Given the description of an element on the screen output the (x, y) to click on. 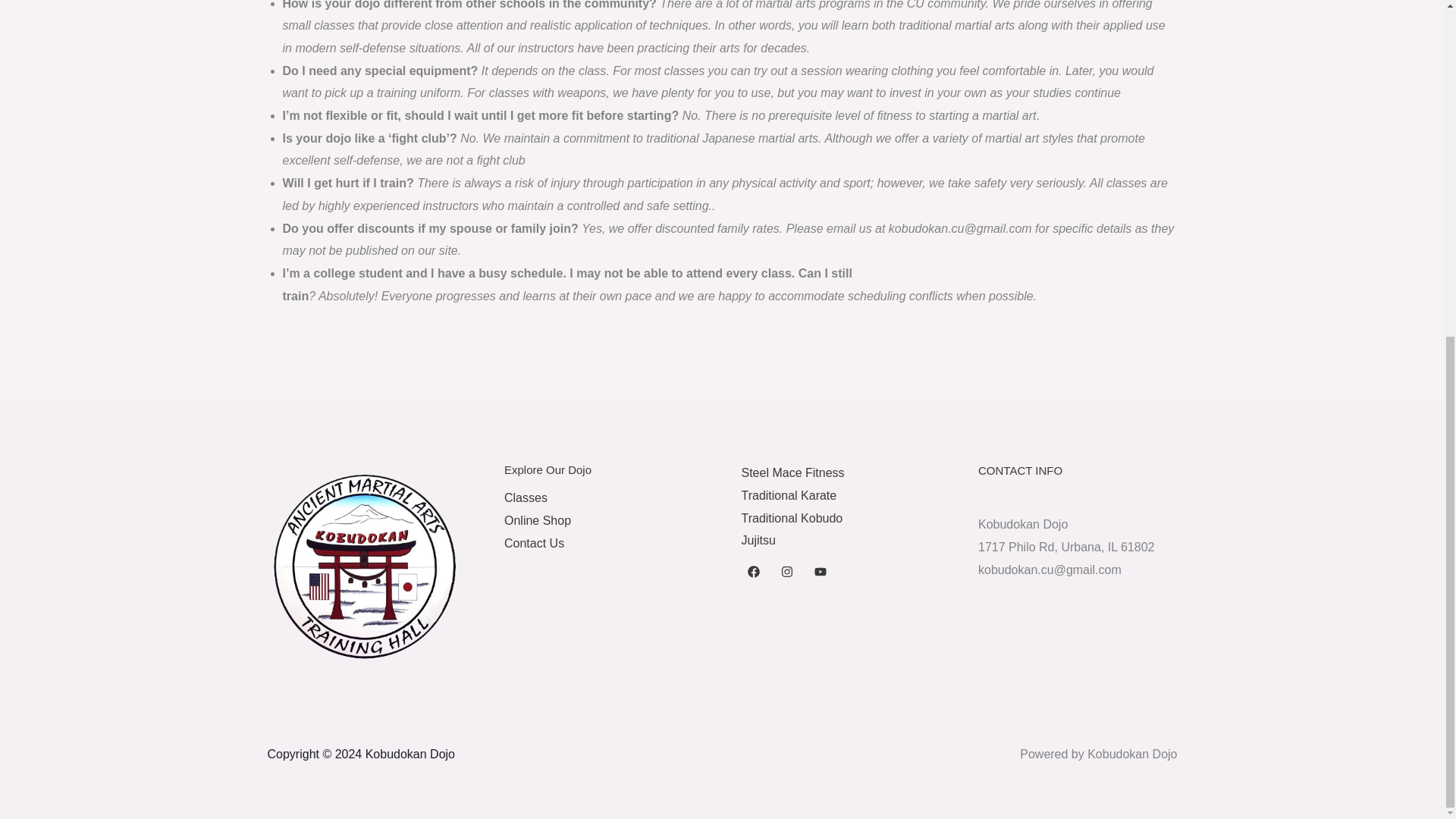
Traditional Karate (789, 495)
Classes (525, 497)
Traditional Kobudo (792, 517)
Jujitsu (758, 540)
Contact Us (533, 543)
Online Shop (536, 520)
Steel Mace Fitness (792, 472)
